Given the description of an element on the screen output the (x, y) to click on. 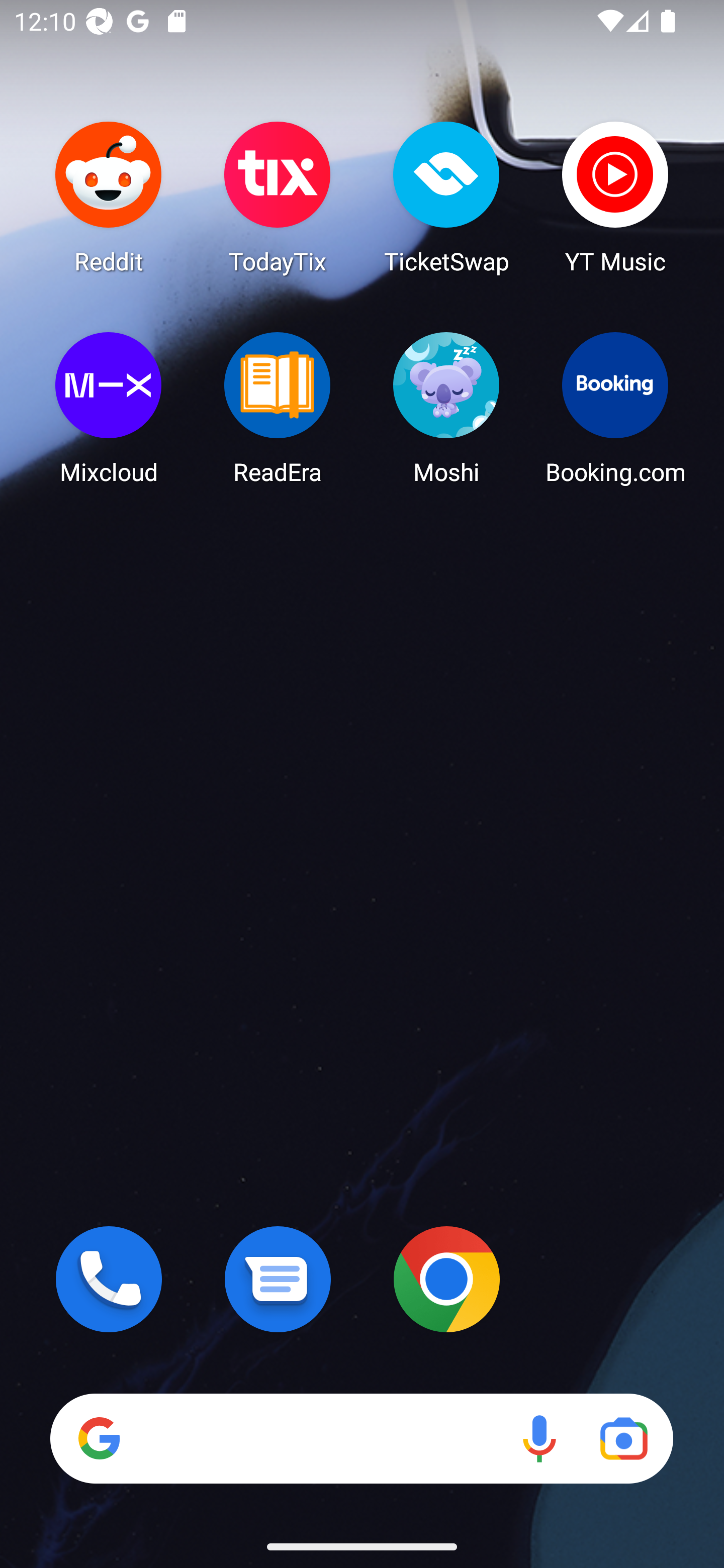
Reddit (108, 196)
TodayTix (277, 196)
TicketSwap (445, 196)
YT Music (615, 196)
Mixcloud (108, 407)
ReadEra (277, 407)
Moshi (445, 407)
Booking.com (615, 407)
Phone (108, 1279)
Messages (277, 1279)
Chrome (446, 1279)
Search Voice search Google Lens (361, 1438)
Voice search (539, 1438)
Google Lens (623, 1438)
